Given the description of an element on the screen output the (x, y) to click on. 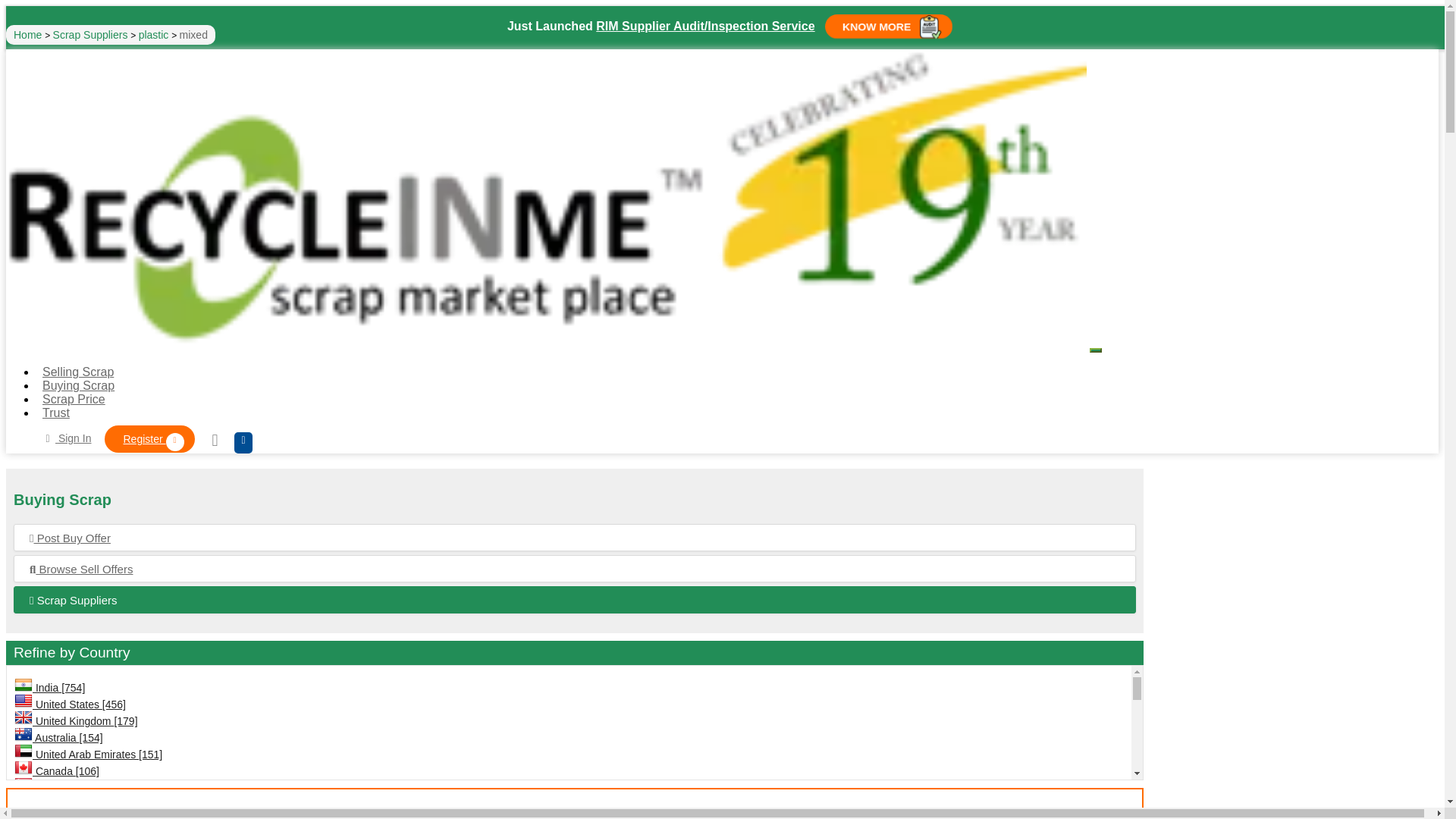
Sign In (65, 438)
United Arab Emirates (23, 751)
South Africa (23, 801)
United States (23, 701)
Register (148, 438)
Scrap Price (74, 398)
Post Buy Offer (574, 538)
Singapore (23, 784)
Canada (23, 767)
China (23, 815)
